Given the description of an element on the screen output the (x, y) to click on. 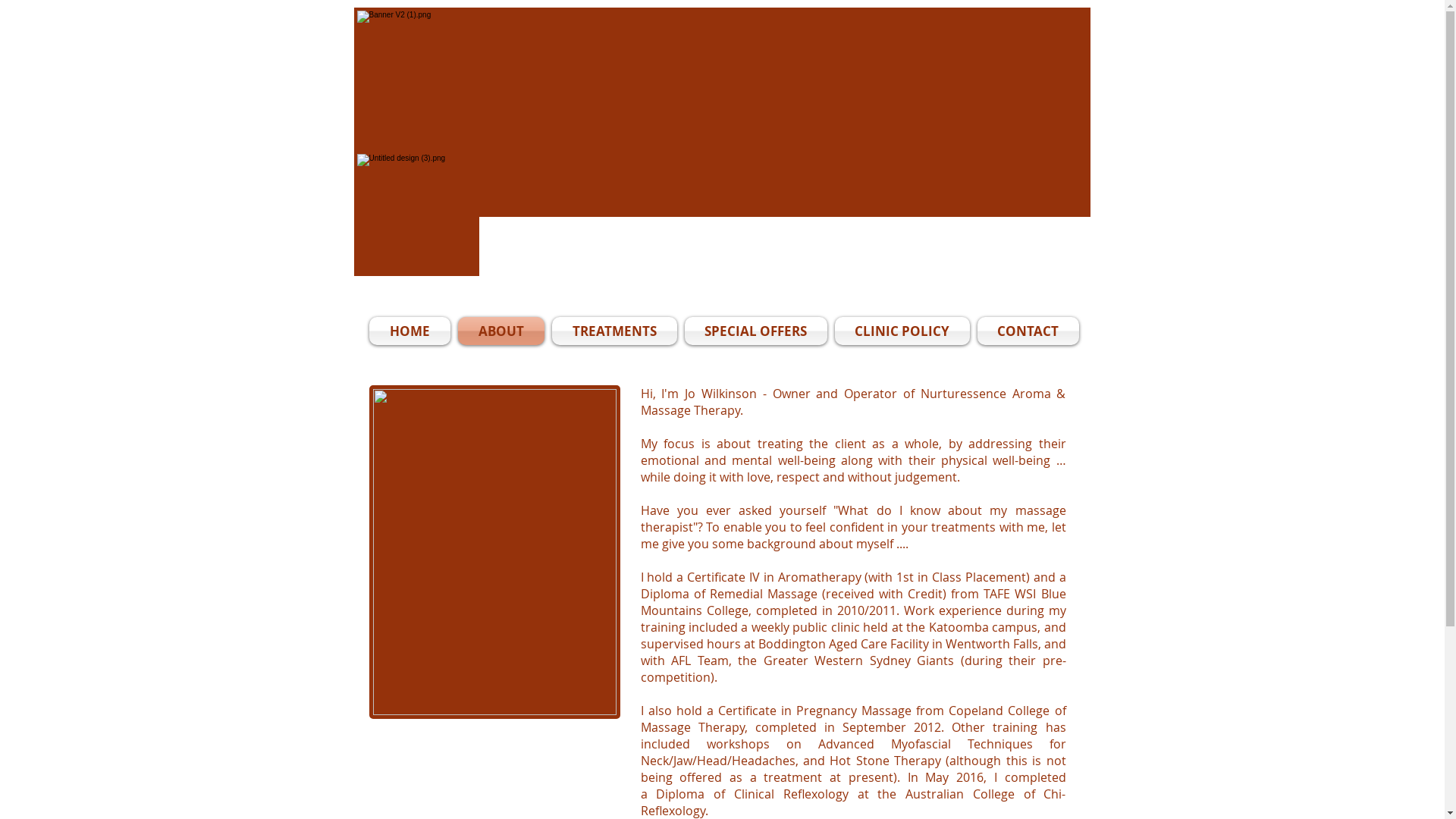
SPECIAL OFFERS Element type: text (755, 330)
CLINIC POLICY Element type: text (902, 330)
ABOUT Element type: text (500, 330)
HOME Element type: text (410, 330)
CONTACT Element type: text (1026, 330)
TREATMENTS Element type: text (613, 330)
